Given the description of an element on the screen output the (x, y) to click on. 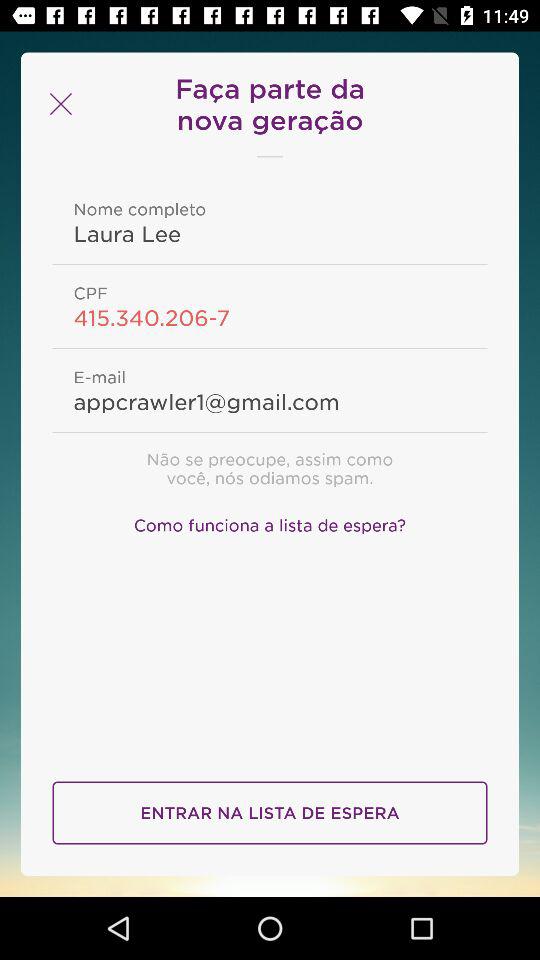
swipe until como funciona a item (270, 522)
